Given the description of an element on the screen output the (x, y) to click on. 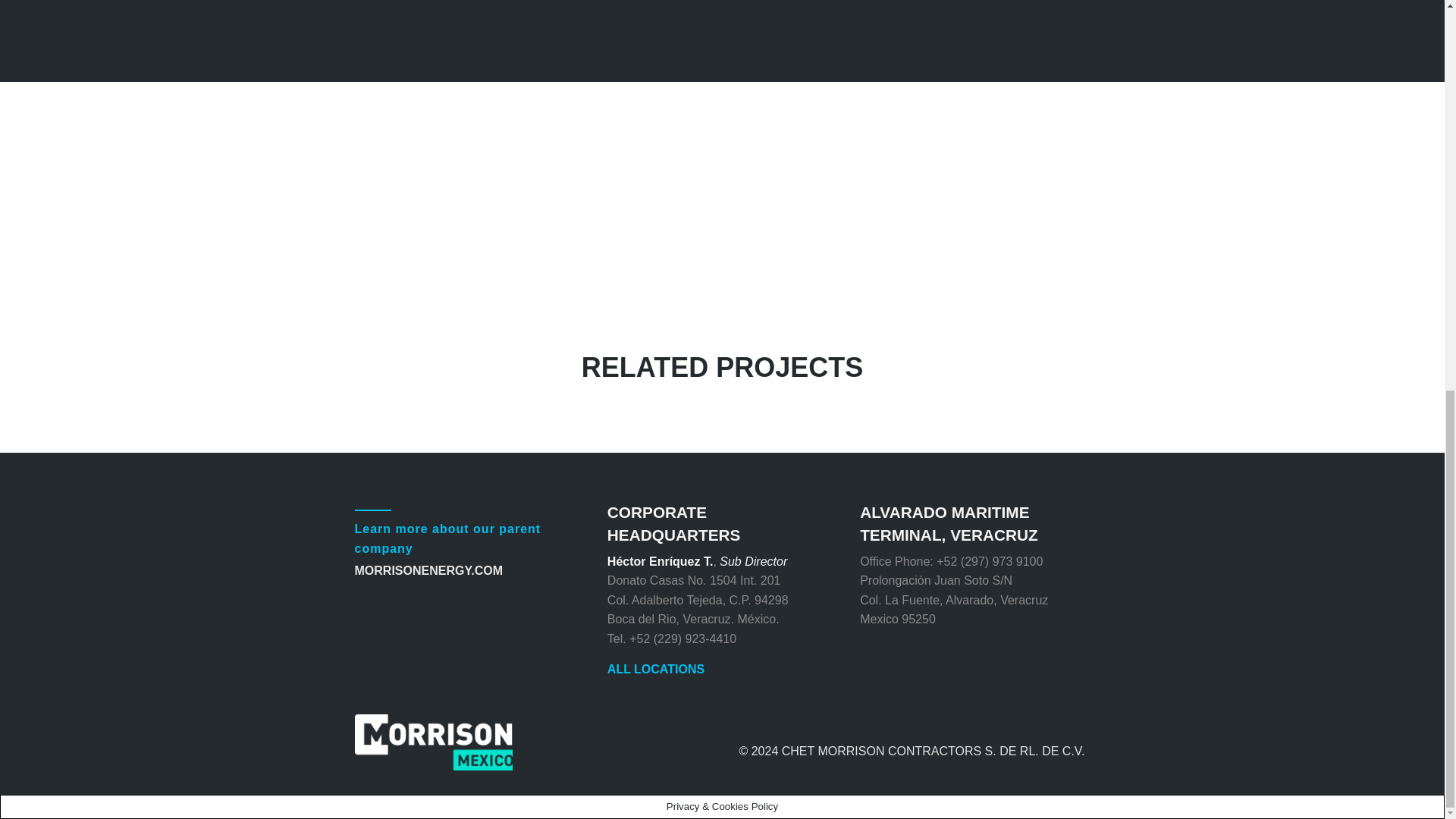
MORRISONENERGY.COM (429, 570)
ALL LOCATIONS (655, 668)
YouTube video player (584, 117)
